Given the description of an element on the screen output the (x, y) to click on. 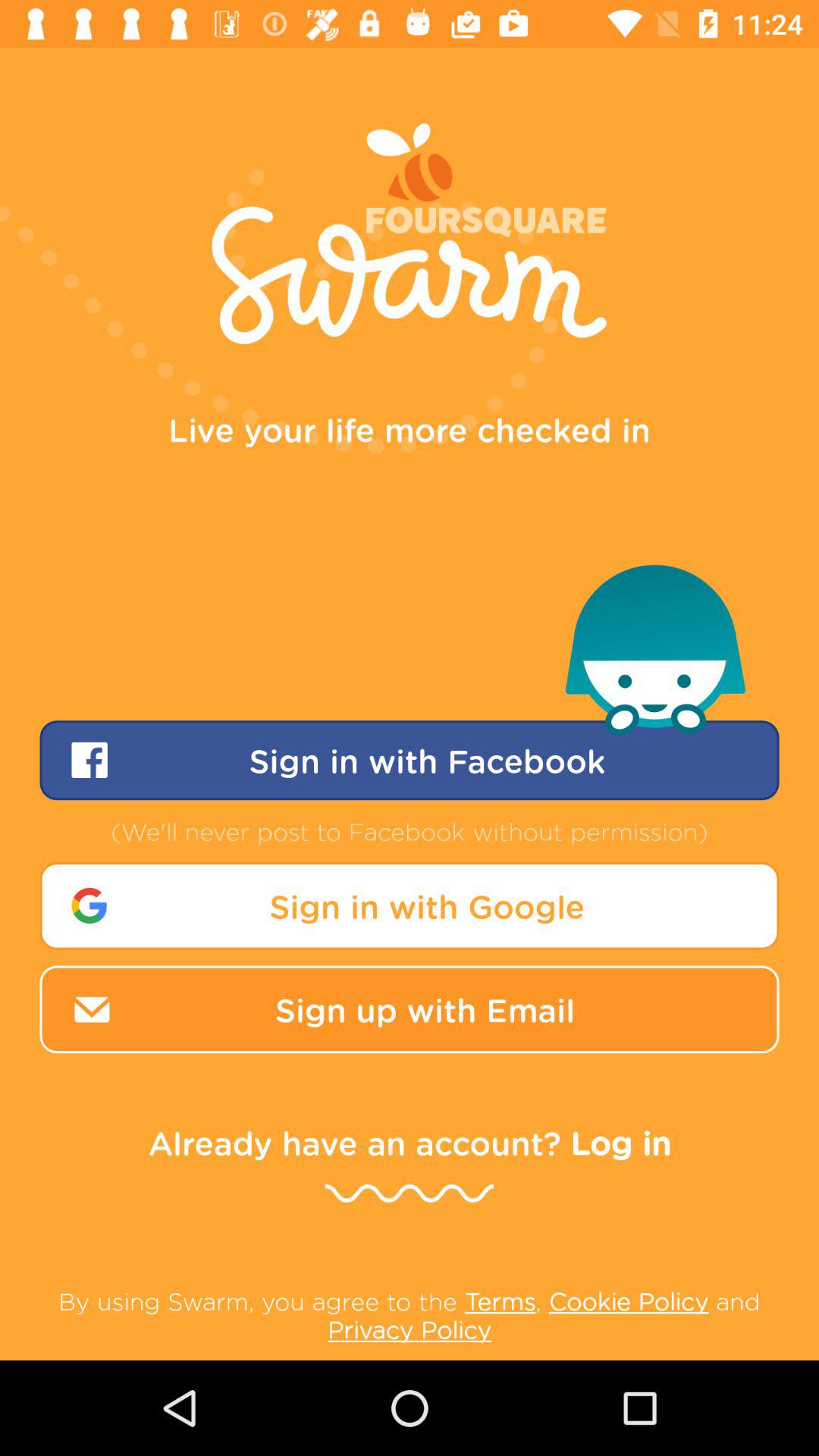
swipe to the by using swarm icon (409, 1315)
